Given the description of an element on the screen output the (x, y) to click on. 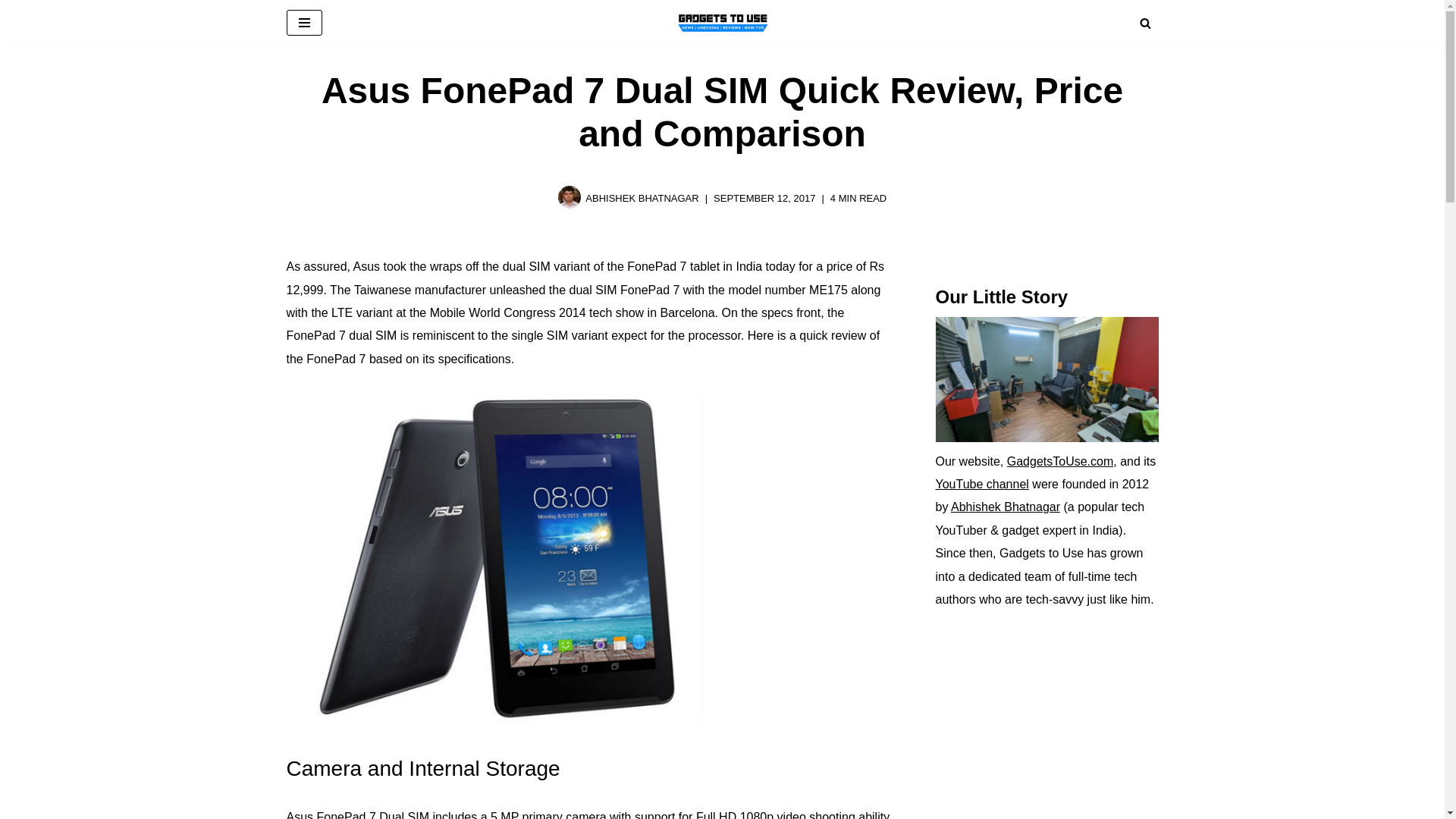
Posts by Abhishek Bhatnagar (641, 197)
ABHISHEK BHATNAGAR (641, 197)
Navigation Menu (303, 22)
Skip to content (11, 31)
